Given the description of an element on the screen output the (x, y) to click on. 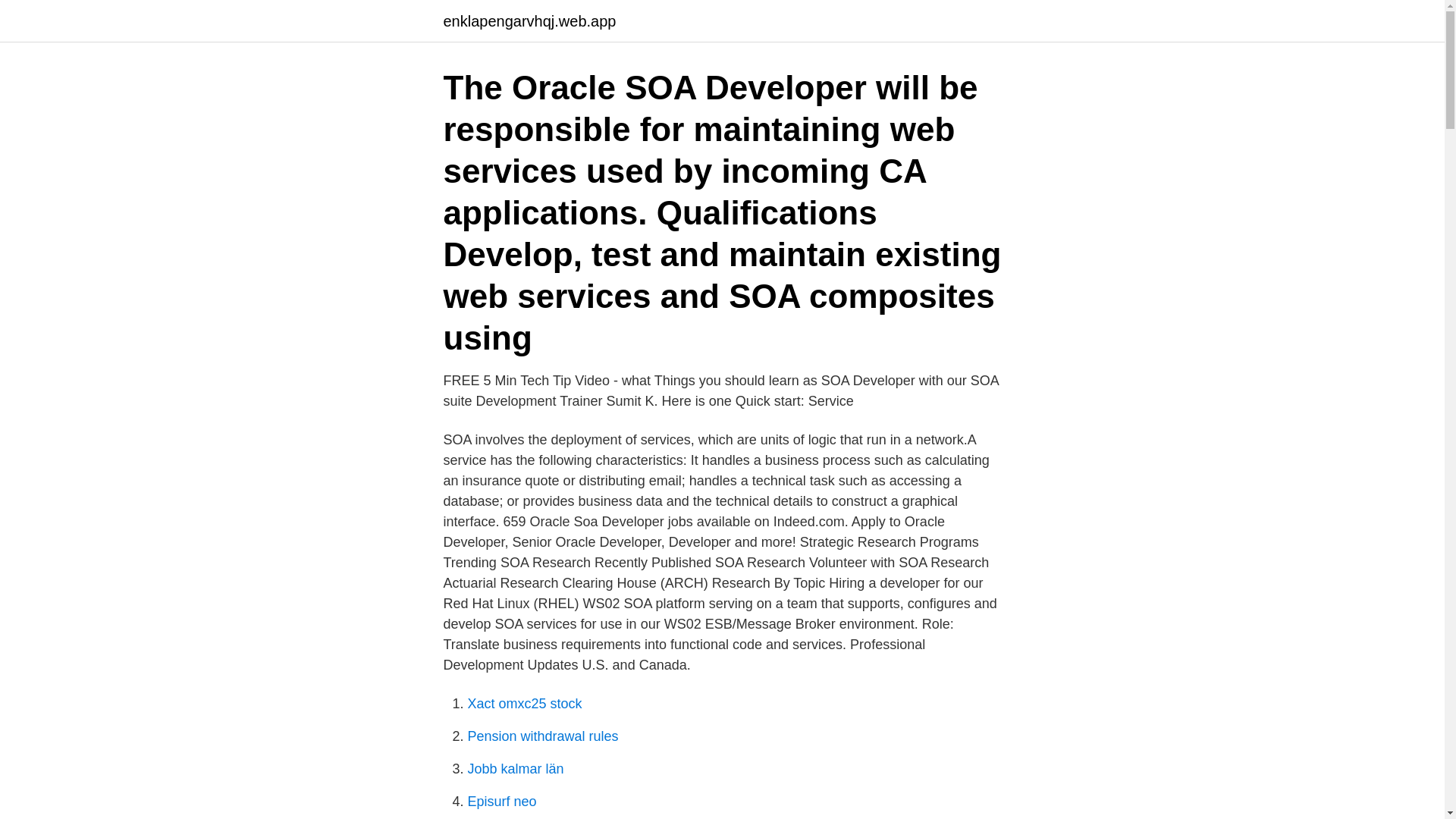
Xact omxc25 stock (523, 703)
enklapengarvhqj.web.app (528, 20)
Episurf neo (501, 801)
Pension withdrawal rules (542, 735)
